Given the description of an element on the screen output the (x, y) to click on. 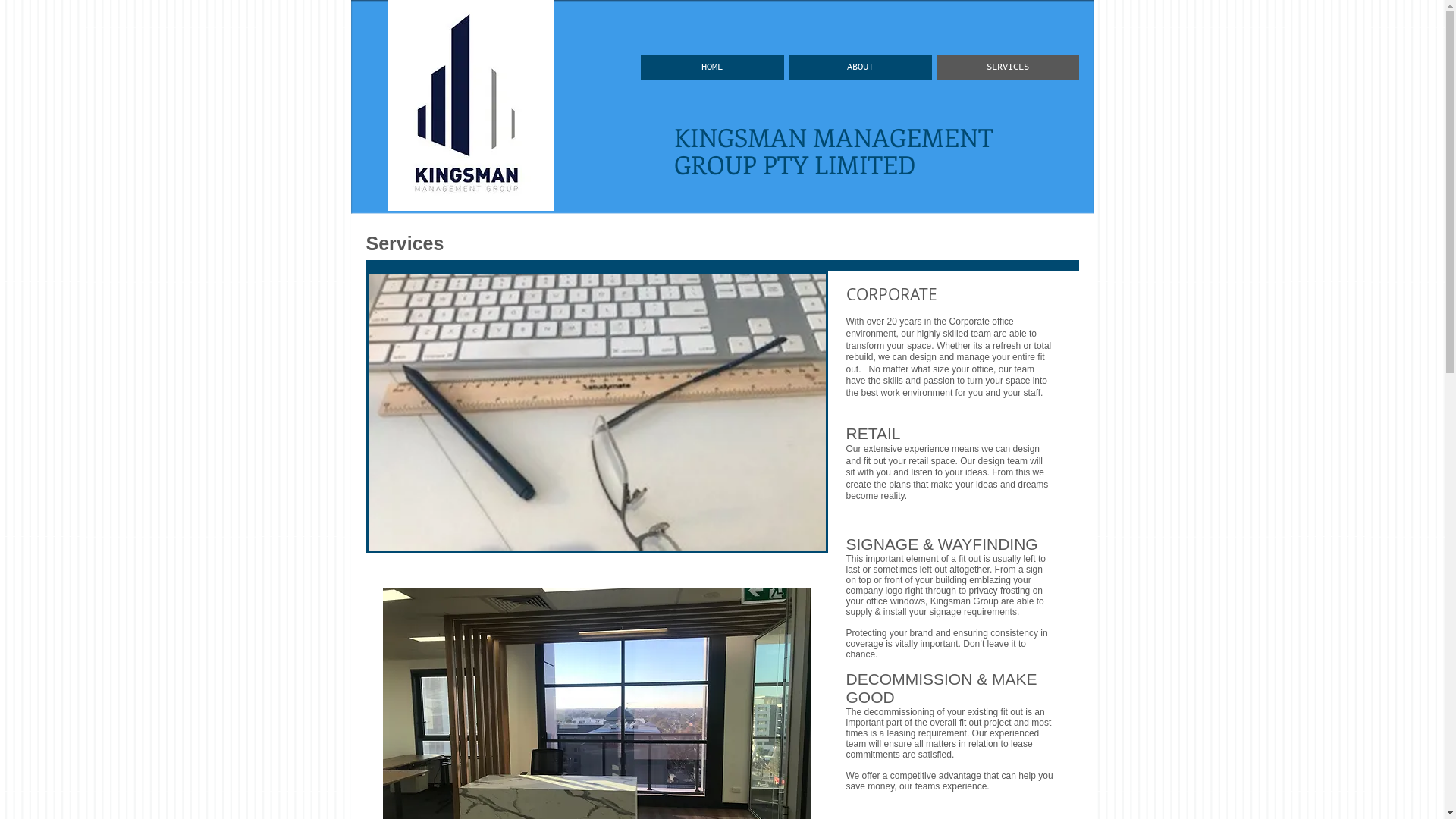
SERVICES Element type: text (1006, 67)
KINGSMAN MANAGEMENT GROUP PTY LIMITED Element type: text (832, 150)
HOME Element type: text (711, 67)
ABOUT Element type: text (859, 67)
